Given the description of an element on the screen output the (x, y) to click on. 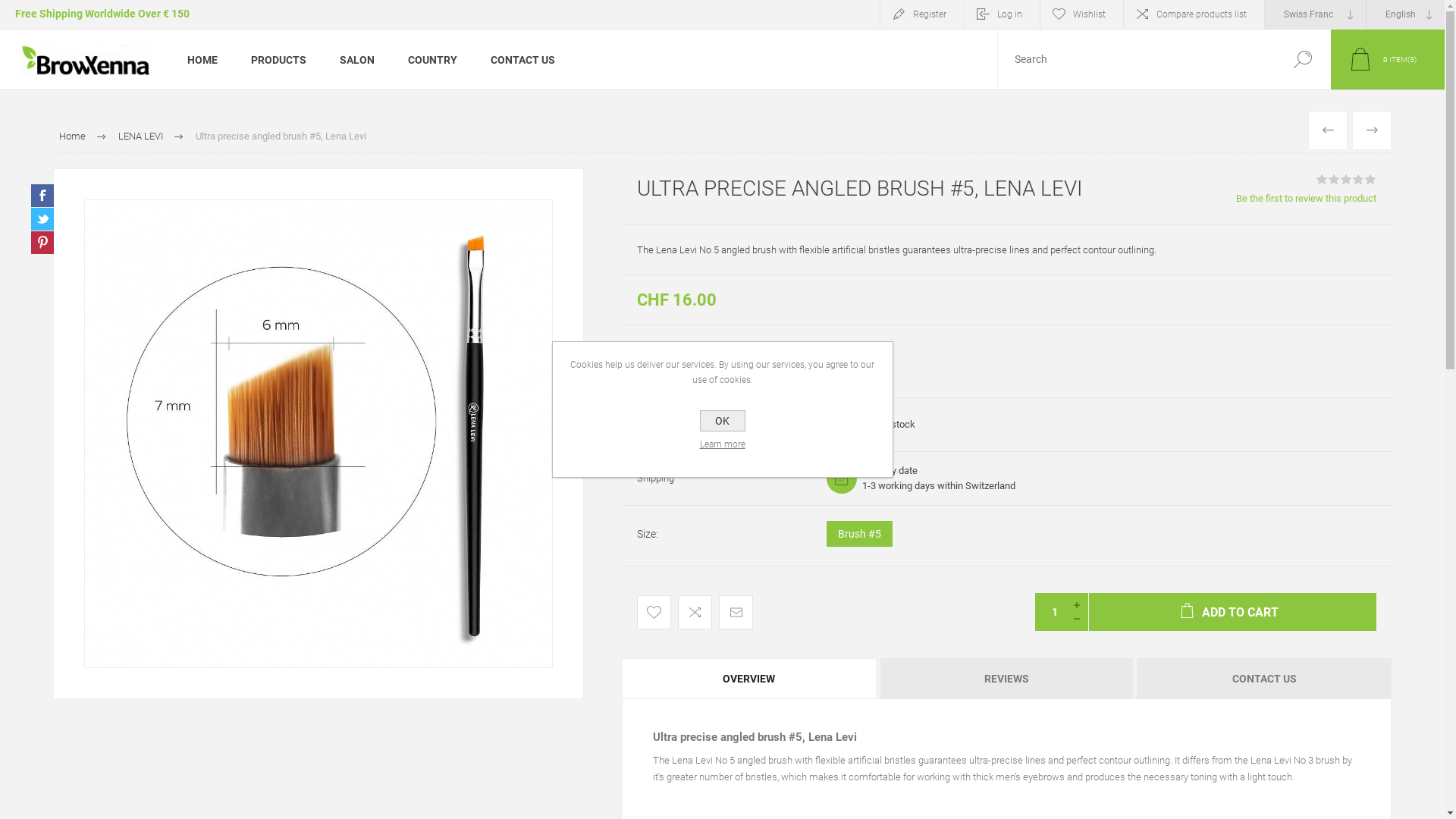
Add to compare list Element type: text (694, 612)
Email a friend Element type: text (735, 612)
OVERVIEW Element type: text (748, 678)
Home Element type: text (72, 136)
Learn more Element type: text (721, 444)
OK Element type: text (721, 420)
Lena Levi Element type: text (848, 353)
Add to wishlist Element type: text (654, 612)
Picture of Ultra precise angled brush #5, Lena Levi Element type: hover (318, 433)
Register Element type: text (921, 14)
Search Element type: text (1302, 59)
COUNTRY Element type: text (432, 58)
Picture of Ultra precise angled brush #5, Lena Levi Element type: hover (318, 433)
REVIEWS Element type: text (1006, 678)
Share on Pinterest Element type: text (42, 242)
ADD TO CART Element type: text (1232, 611)
Be the first to review this product Element type: text (1306, 197)
LENA LEVI Element type: text (140, 136)
HOME Element type: text (202, 58)
Ultra precise angled brush ... Element type: hover (1327, 130)
Ultra thin brush #7, Lena L... Element type: hover (1371, 130)
SALON Element type: text (357, 58)
CONTACT US Element type: text (1263, 678)
0 ITEM(S) Element type: text (1387, 59)
Compare products list Element type: text (1193, 14)
CONTACT US Element type: text (522, 58)
Share on Twitter Element type: text (42, 218)
Log in Element type: text (1001, 14)
Wishlist Element type: text (1081, 14)
Share on Facebook Element type: text (42, 195)
